Given the description of an element on the screen output the (x, y) to click on. 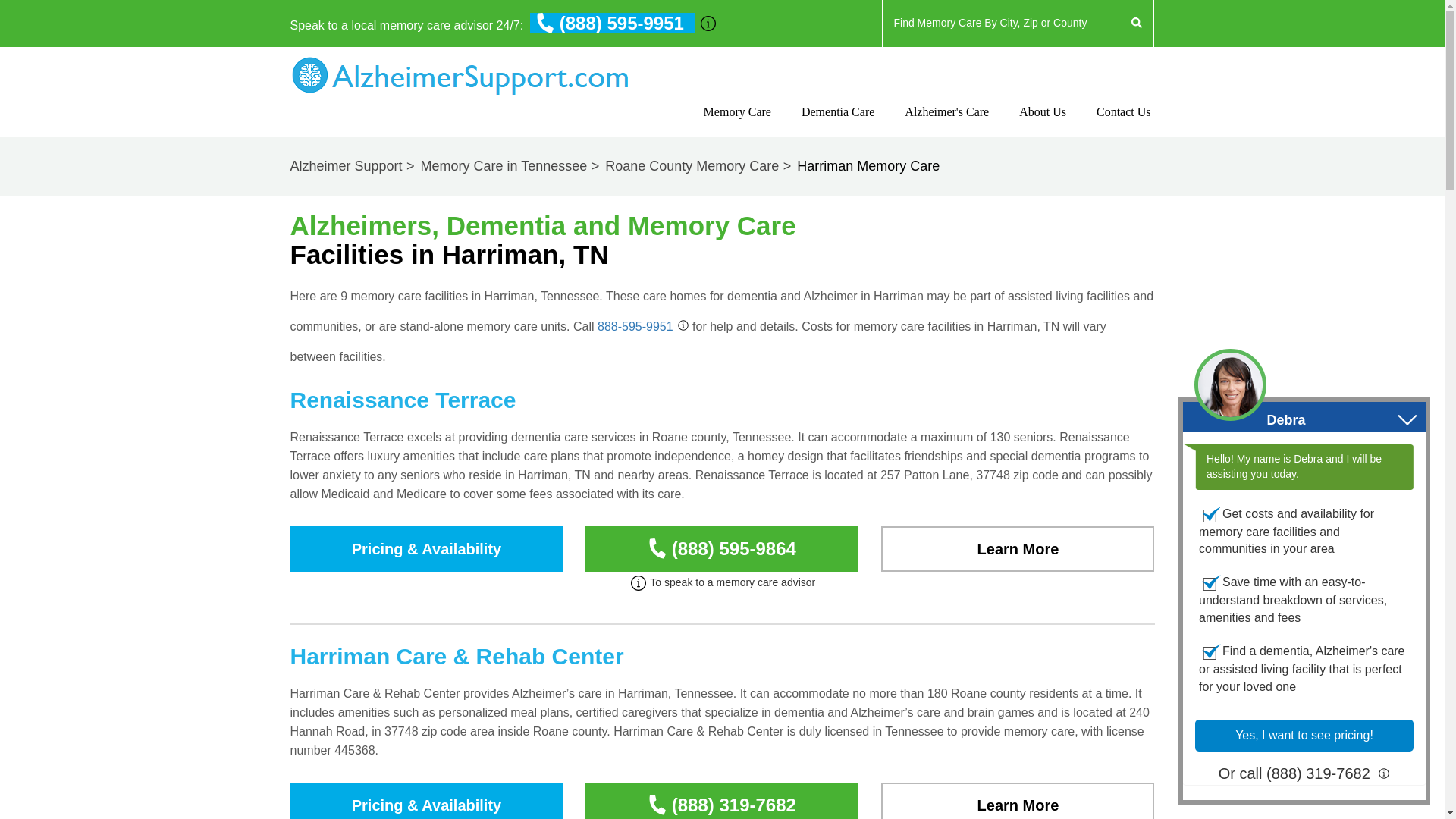
888-595-9951 (634, 326)
Memory Care (737, 124)
Learn More (1017, 800)
Alzheimer Support (352, 165)
About Us (1042, 124)
Learn More (1017, 800)
Dementia Care (838, 124)
Contact Us (1123, 124)
Alzheimer's Care (946, 124)
Contact Us (1042, 124)
Memory Care (737, 124)
Learn More (1017, 549)
Contact Us (1123, 124)
Memory Care in Tennessee (511, 165)
Alzheimer Support (352, 165)
